Given the description of an element on the screen output the (x, y) to click on. 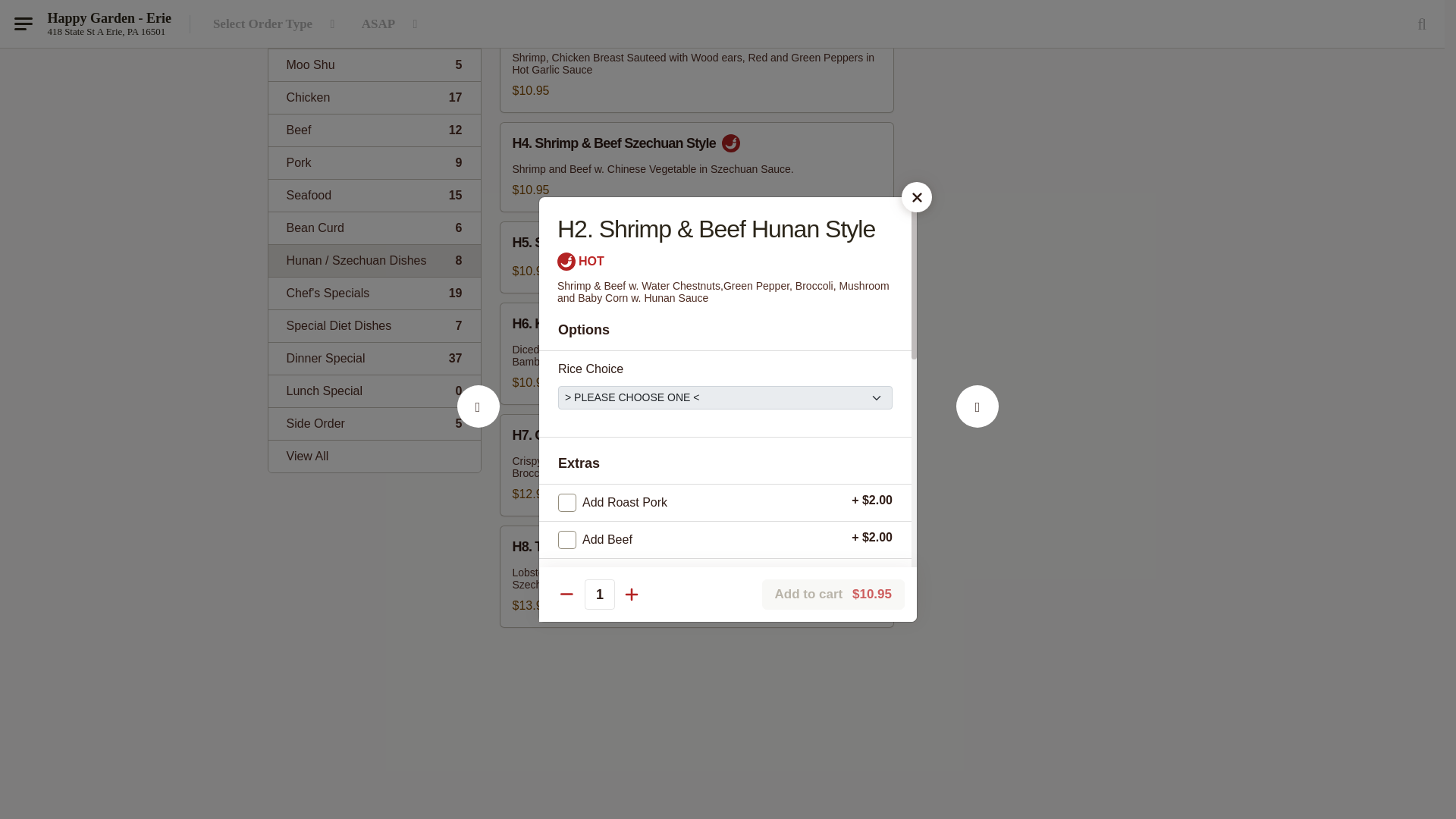
1 (373, 31)
